Given the description of an element on the screen output the (x, y) to click on. 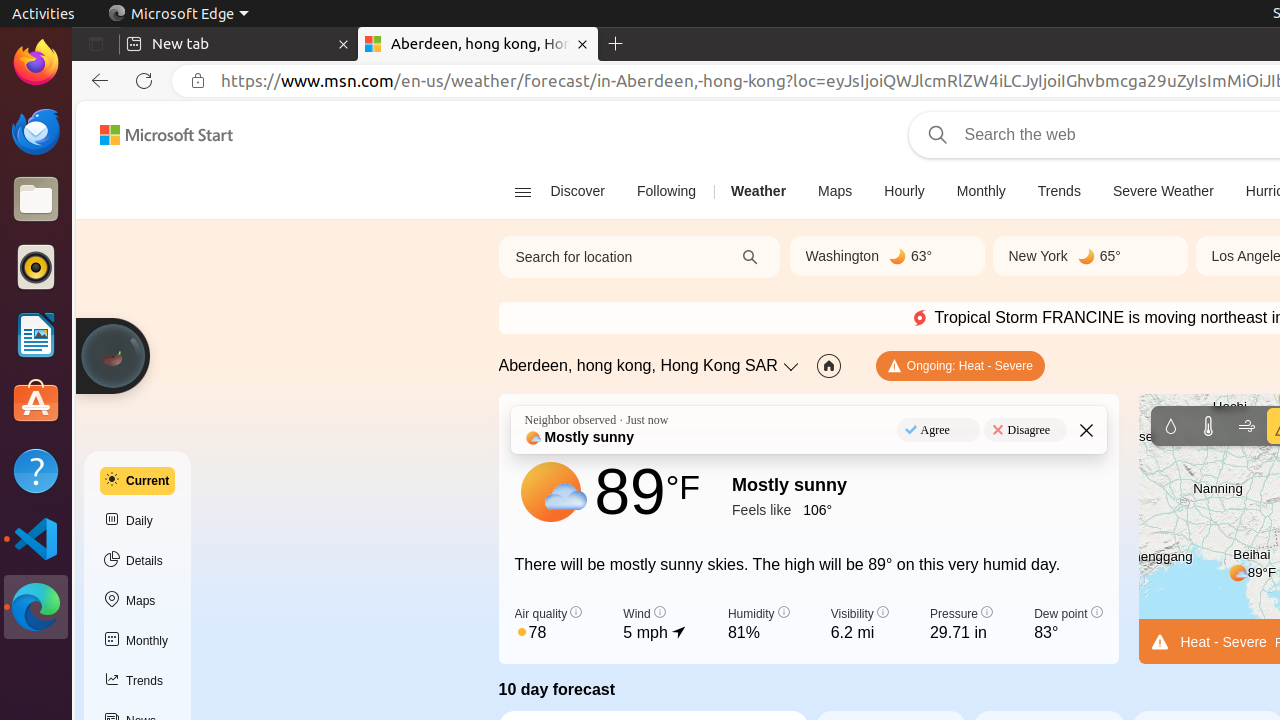
Severe Weather Element type: link (1163, 192)
Join us in planting real trees to help our planet! Element type: push-button (113, 356)
New York Clear 65° Element type: push-button (1090, 256)
Monthly Element type: push-button (138, 641)
Maps Element type: link (835, 192)
